Given the description of an element on the screen output the (x, y) to click on. 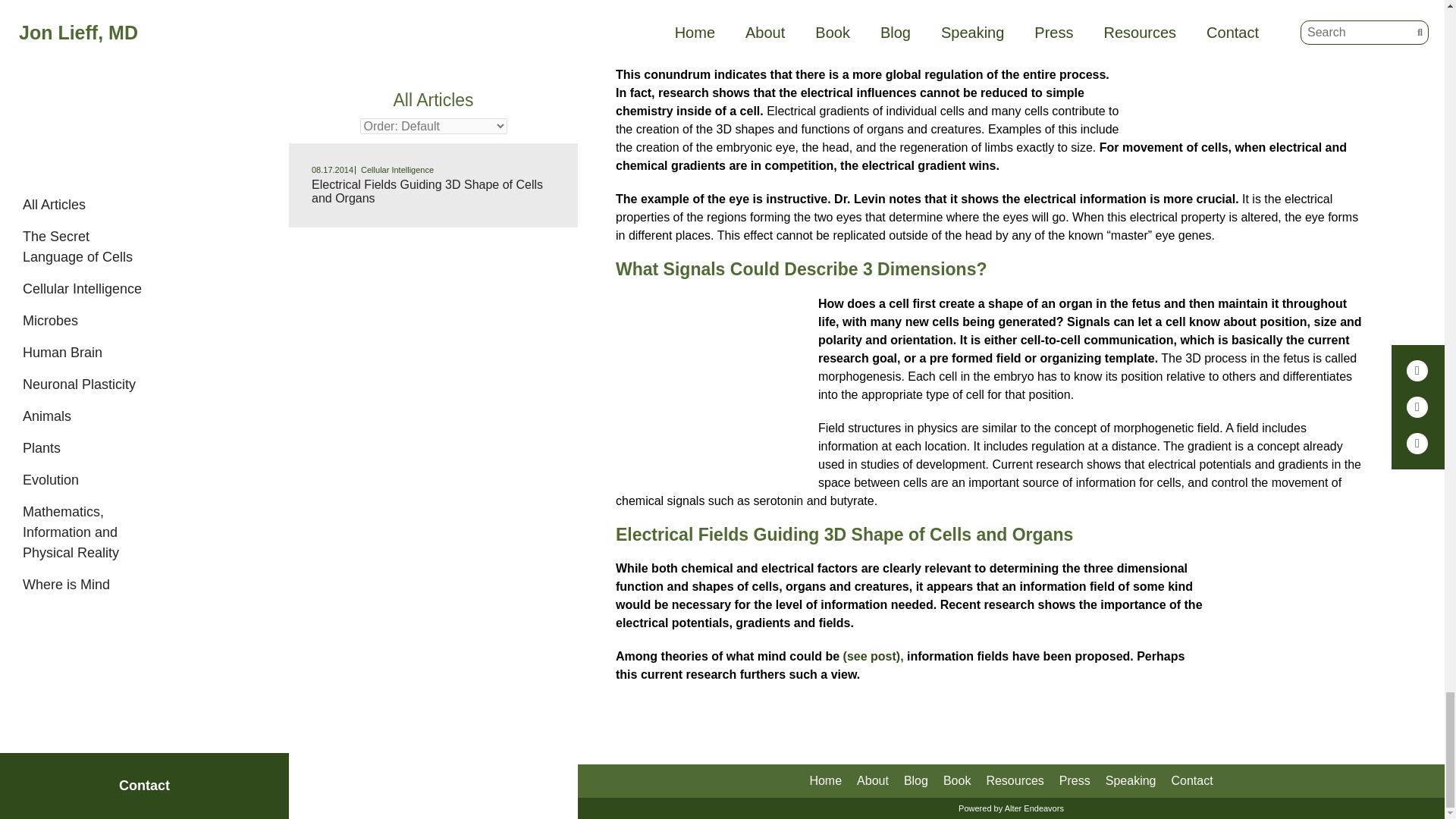
Press (1074, 780)
Blog (916, 780)
Contact (1191, 780)
About (872, 780)
Home (825, 780)
Book (957, 780)
Speaking (1130, 780)
Resources (1014, 780)
